Given the description of an element on the screen output the (x, y) to click on. 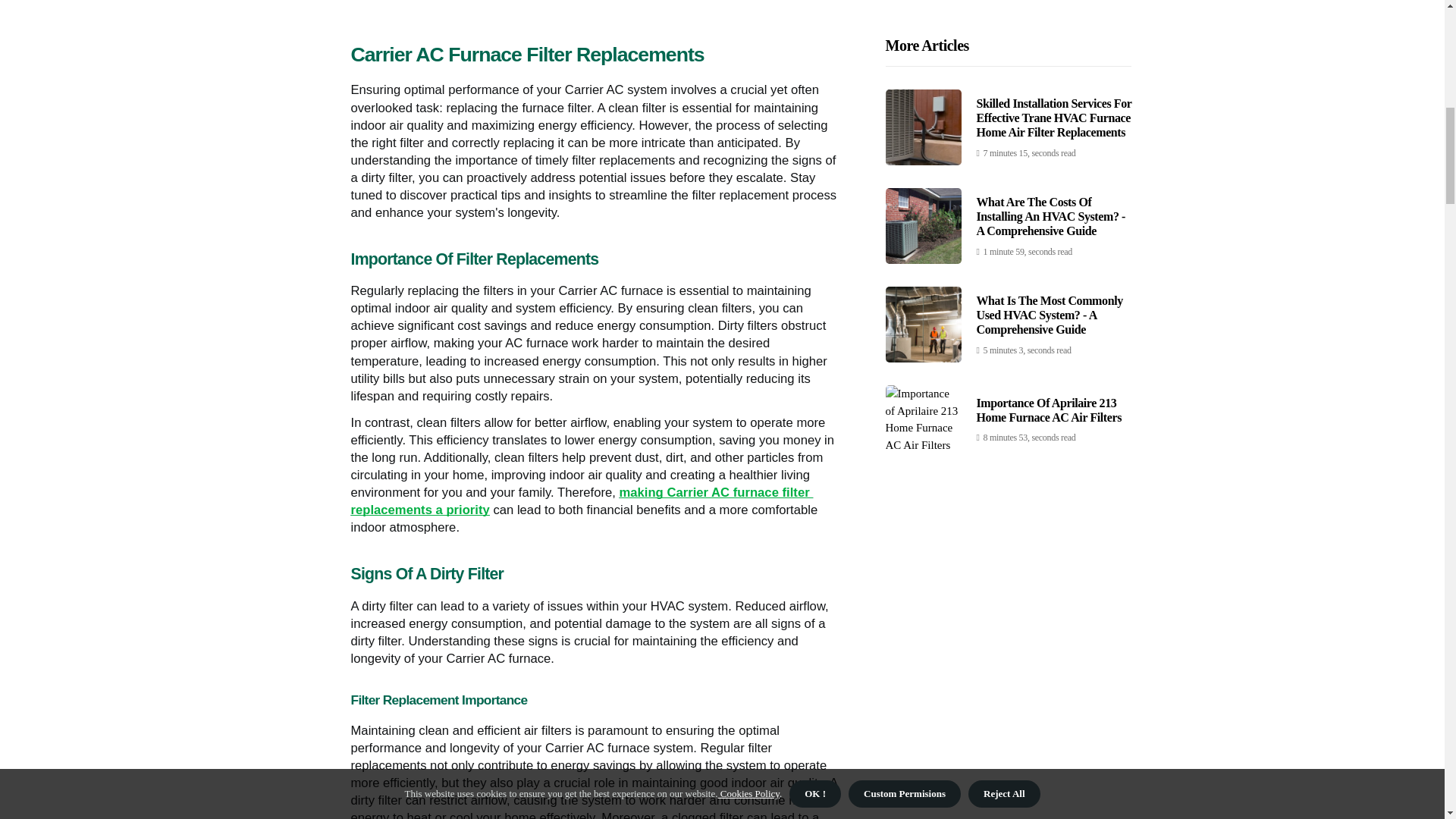
making Carrier AC furnace filter replacements a priority (581, 501)
YouTube video player (596, 5)
Importance Of Aprilaire 213 Home Furnace AC Air Filters (1049, 106)
